Given the description of an element on the screen output the (x, y) to click on. 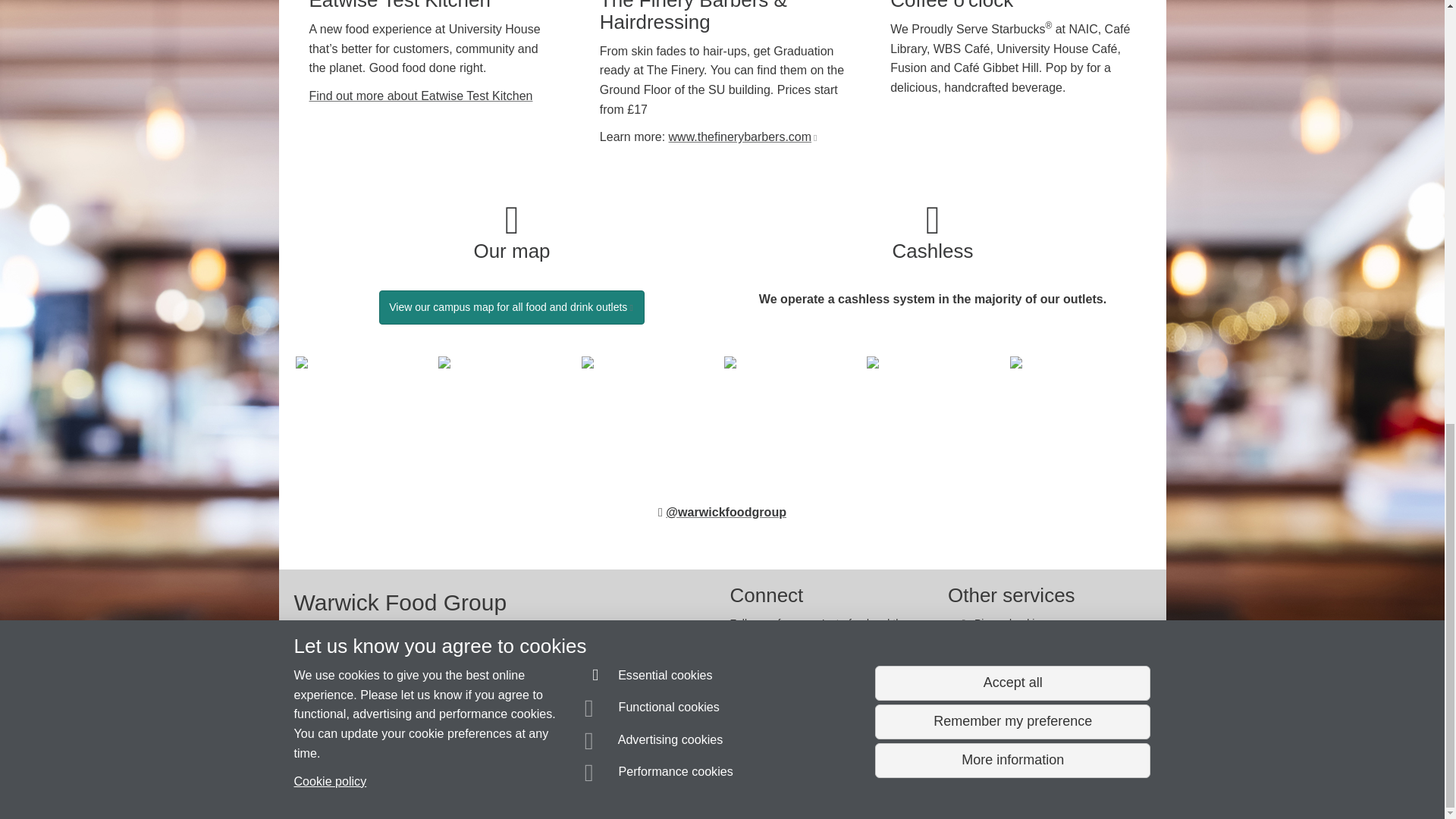
Copyright Statement (514, 780)
Find out more about Eatwise Test Kitchen (420, 95)
Contact us (339, 680)
Vending machines (743, 136)
Accessibility (1017, 645)
More information about SiteBuilder (419, 780)
Piazza bookings (365, 780)
Send an email to Warwick Food Group (1012, 623)
Cookies (393, 751)
Privacy notice (467, 780)
Sitebuilder (673, 780)
Terms of use (365, 780)
Information about cookies (708, 780)
